Given the description of an element on the screen output the (x, y) to click on. 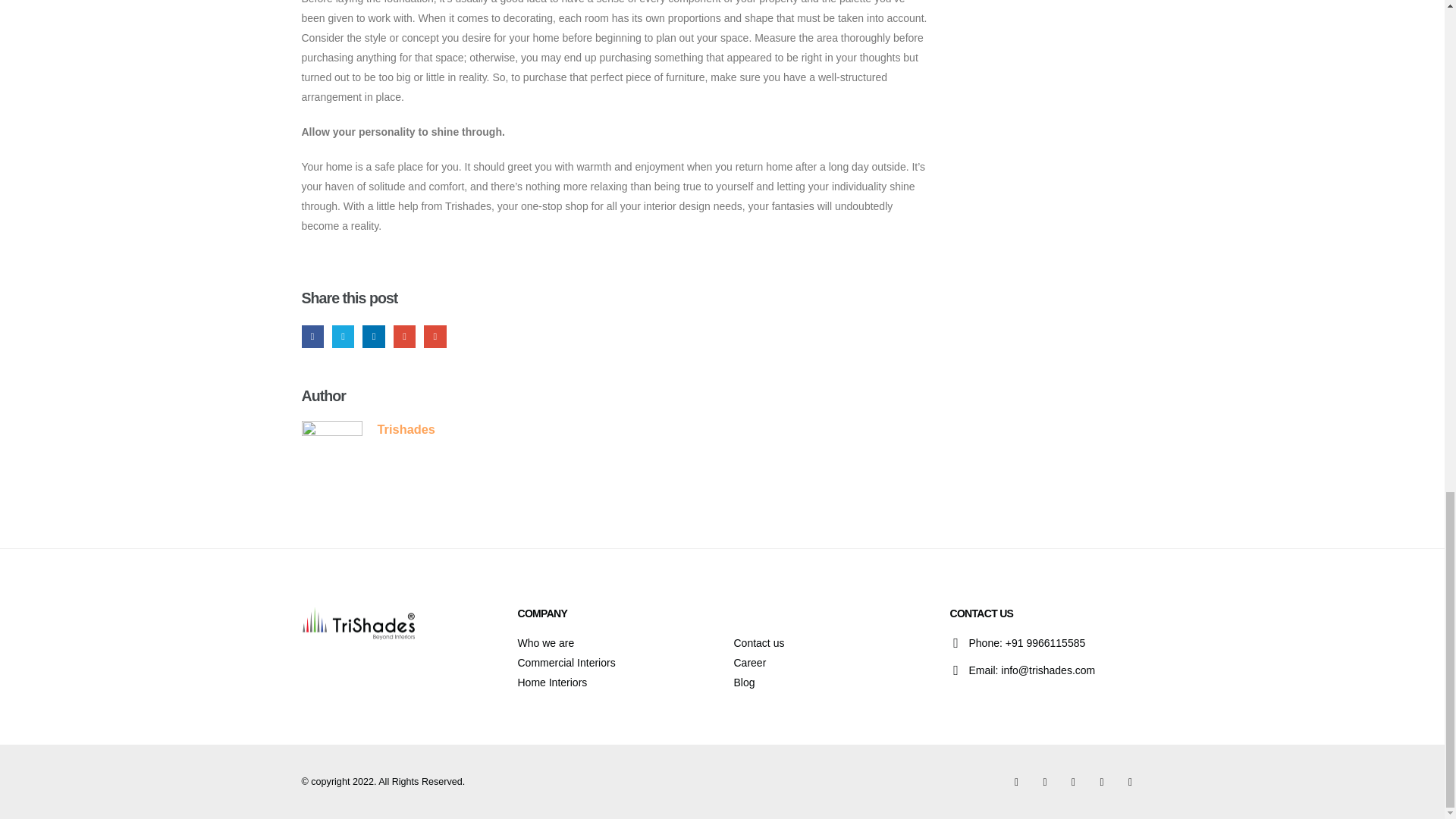
Email (434, 336)
Posts by Trishades (406, 428)
Trishades (406, 428)
Facebook (312, 336)
Twitter (342, 336)
LinkedIn (373, 336)
